Given the description of an element on the screen output the (x, y) to click on. 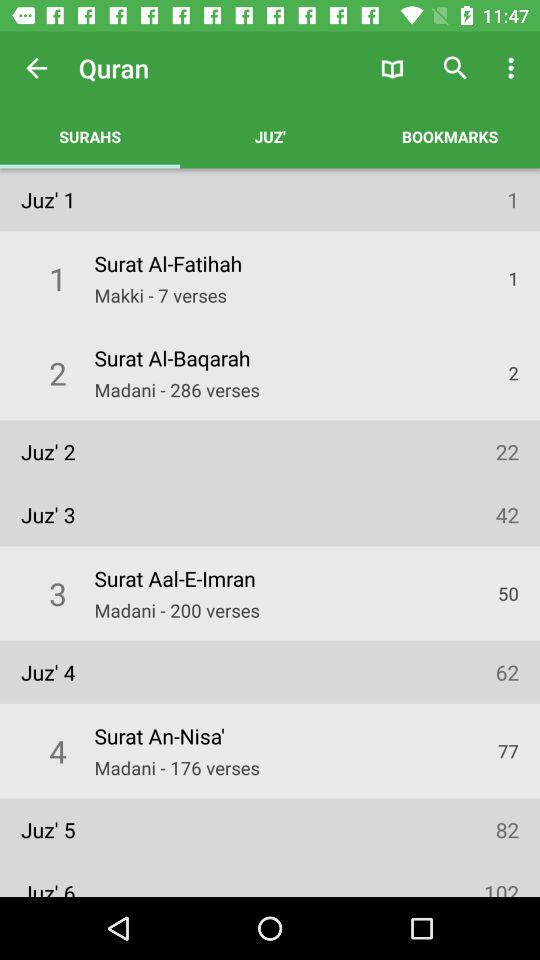
turn on juz' item (270, 136)
